Given the description of an element on the screen output the (x, y) to click on. 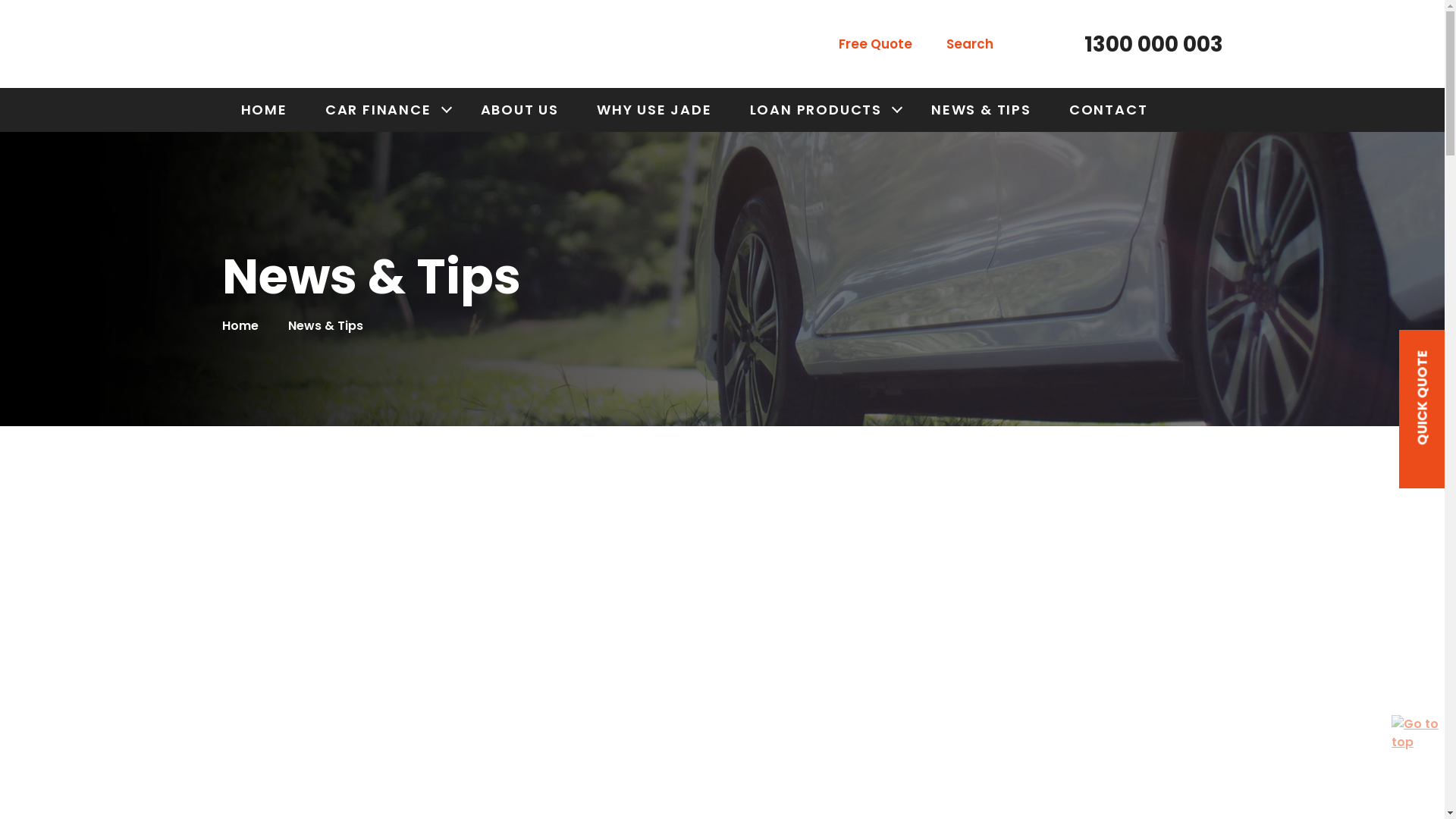
1300 000 003 Element type: text (1142, 44)
Free Quote Element type: text (865, 44)
WHY USE JADE Element type: text (654, 109)
ABOUT US Element type: text (519, 109)
CAR FINANCE Element type: text (383, 109)
Home Element type: text (239, 325)
CONTACT Element type: text (1108, 109)
LOAN PRODUCTS Element type: text (821, 109)
Search Element type: text (959, 44)
News & Tips Element type: text (325, 325)
HOME Element type: text (263, 109)
NEWS & TIPS Element type: text (981, 109)
Jade Equipment Finance Element type: text (278, 43)
